Given the description of an element on the screen output the (x, y) to click on. 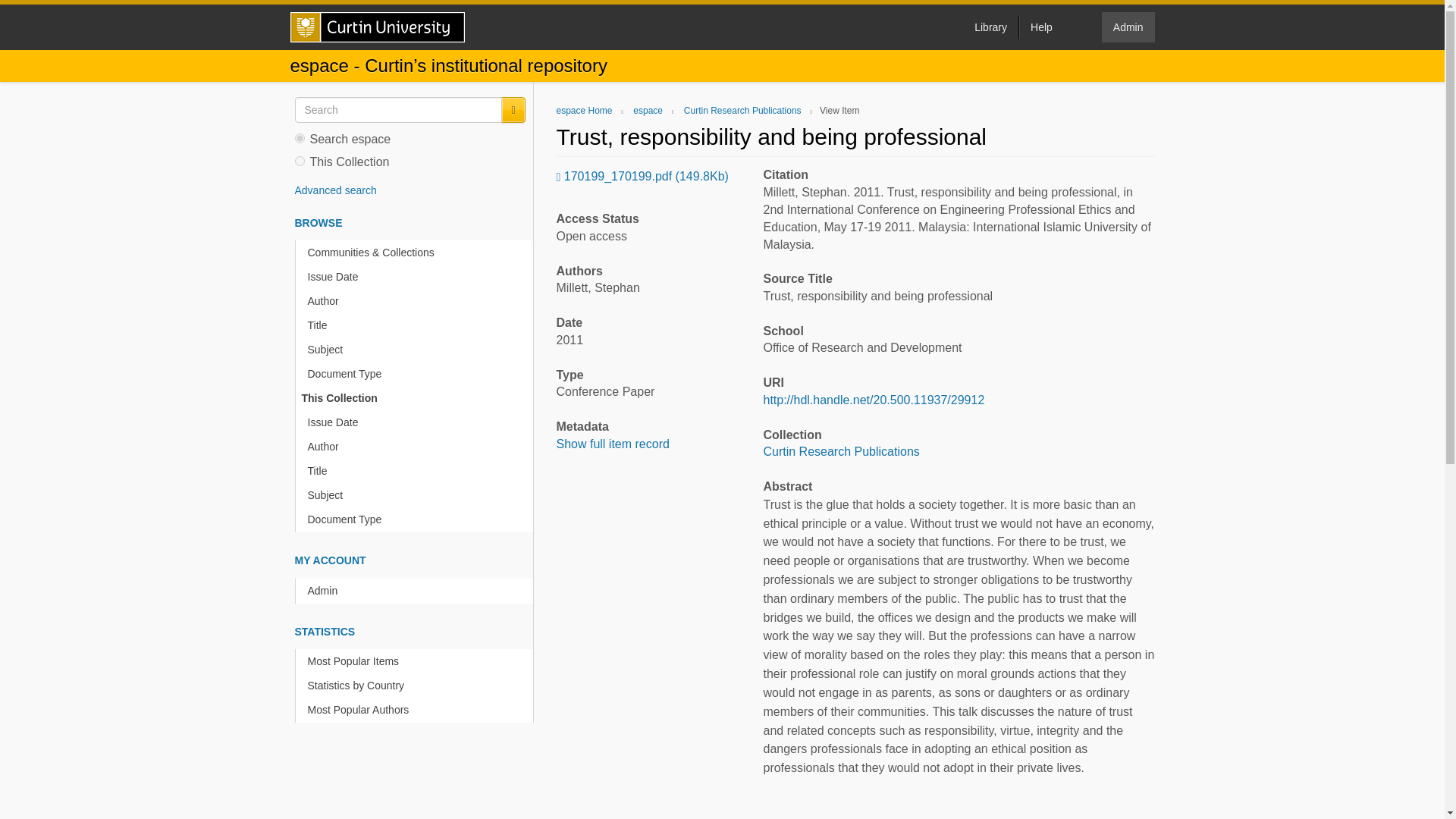
Document Type (416, 519)
Admin (416, 590)
Document Type (416, 373)
Most Popular Items (416, 661)
Author (416, 301)
Curtin Research Publications (840, 451)
Curtin Research Publications (743, 110)
Author (416, 446)
Admin (1128, 27)
Issue Date (416, 276)
